Given the description of an element on the screen output the (x, y) to click on. 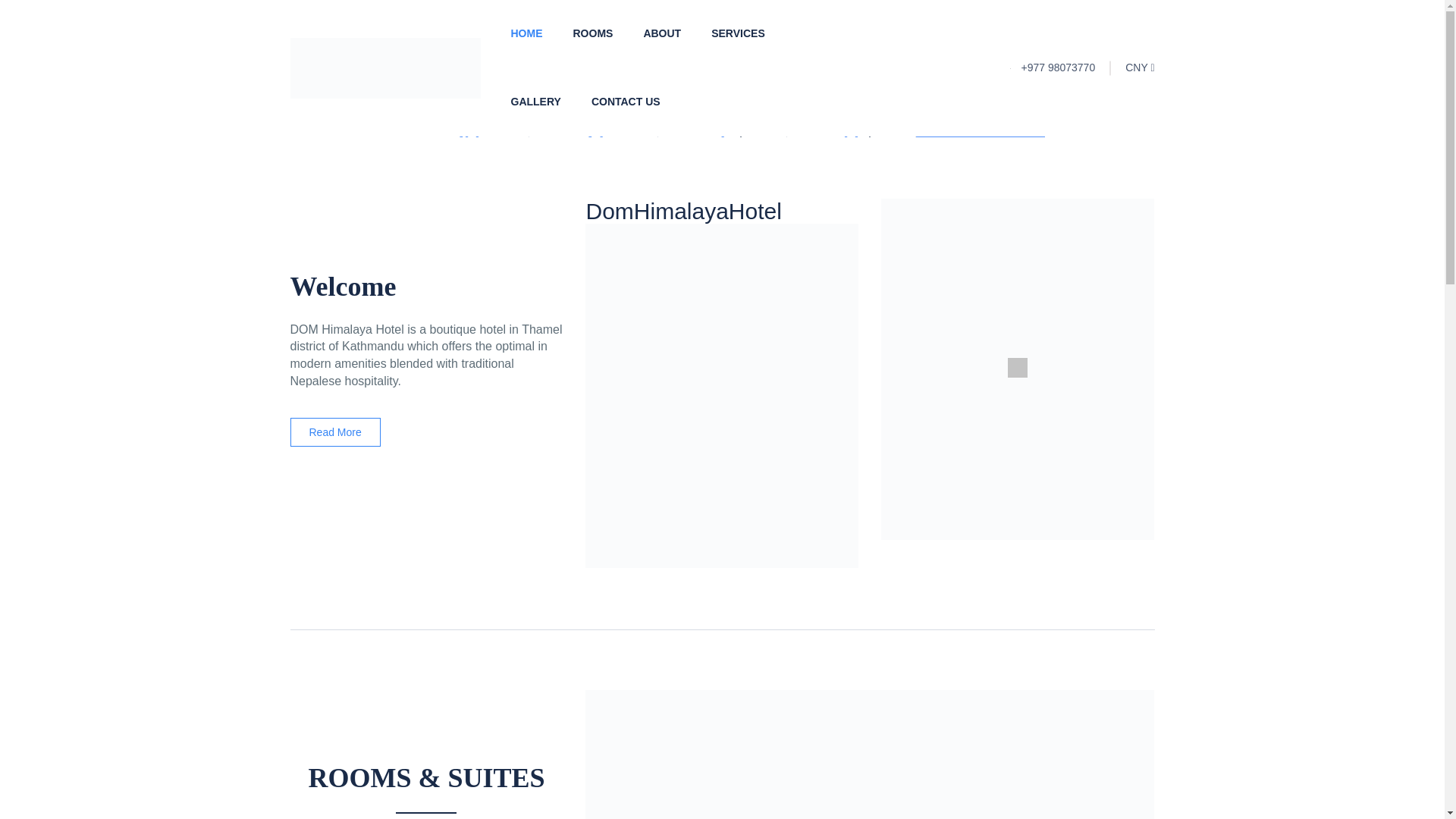
Read More (564, 68)
SERVICES  (334, 431)
HOME (739, 33)
CONTACT US (526, 33)
ABOUT (625, 101)
GALLERY (661, 33)
ROOMS (980, 133)
